Given the description of an element on the screen output the (x, y) to click on. 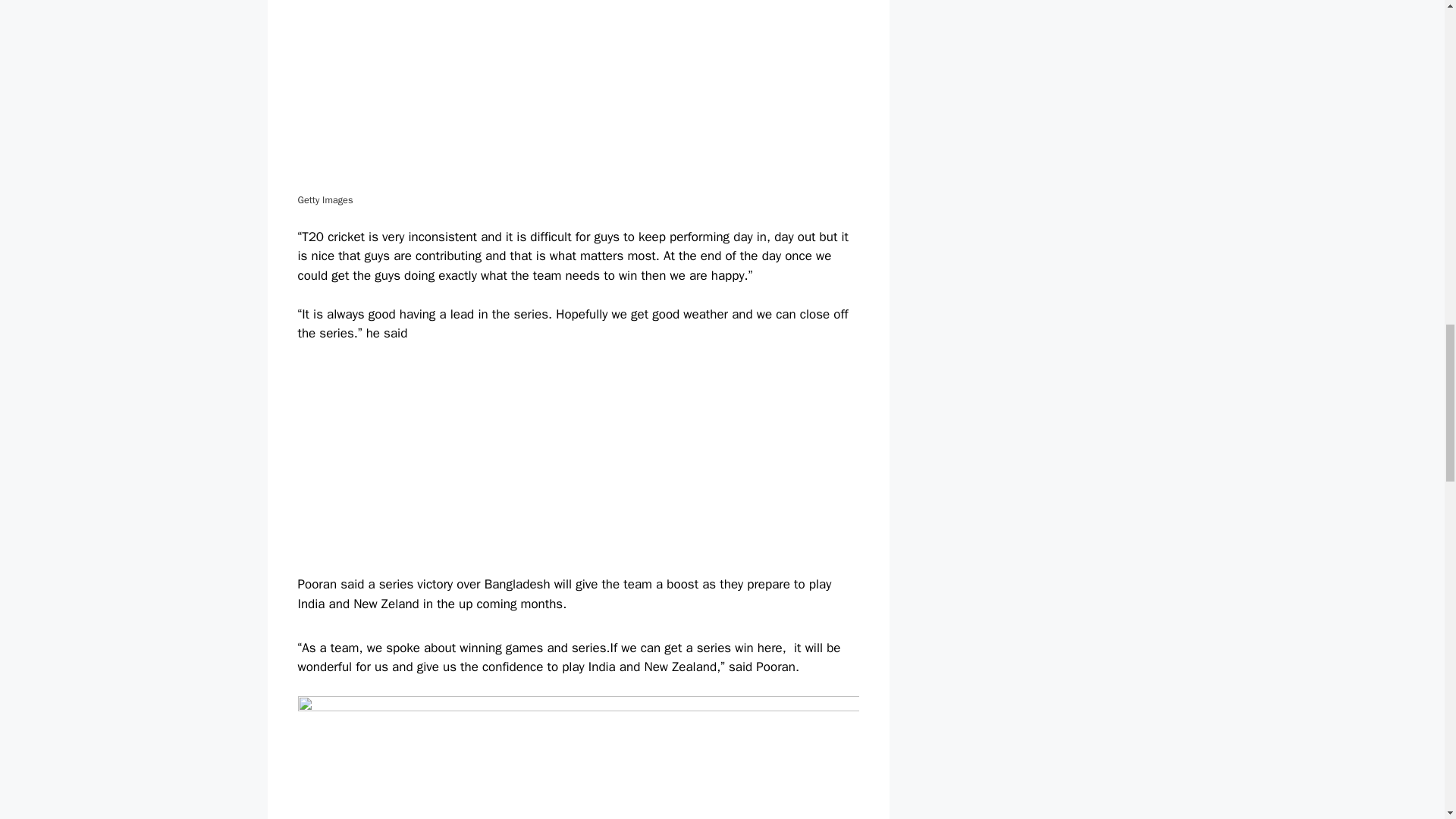
Advertisement (578, 468)
